Given the description of an element on the screen output the (x, y) to click on. 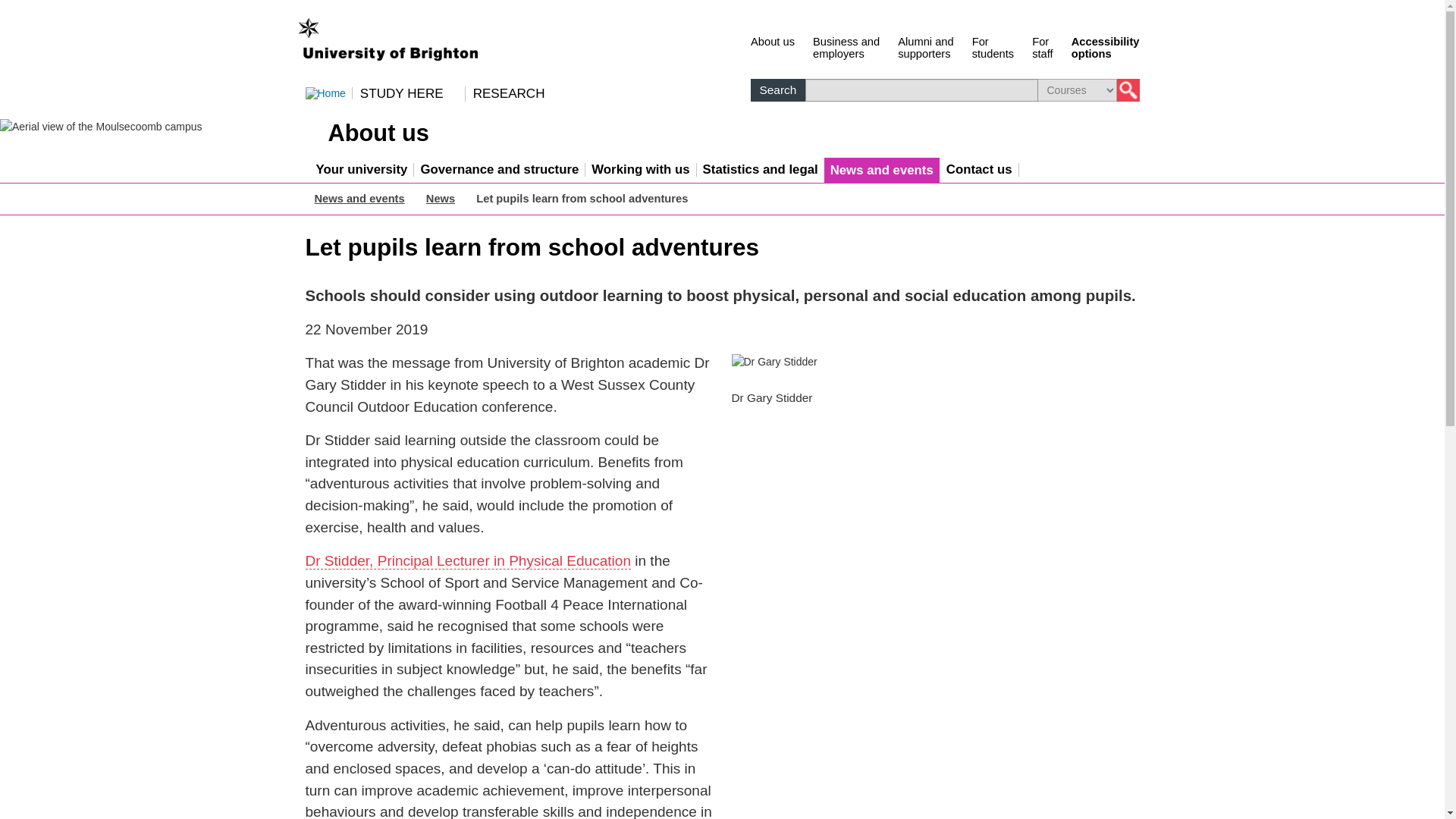
For students (993, 46)
Alumni and supporters (993, 46)
STUDY HERE (925, 46)
For staff (408, 93)
Study here (925, 46)
About us (1042, 46)
Business and employers (1042, 46)
